Given the description of an element on the screen output the (x, y) to click on. 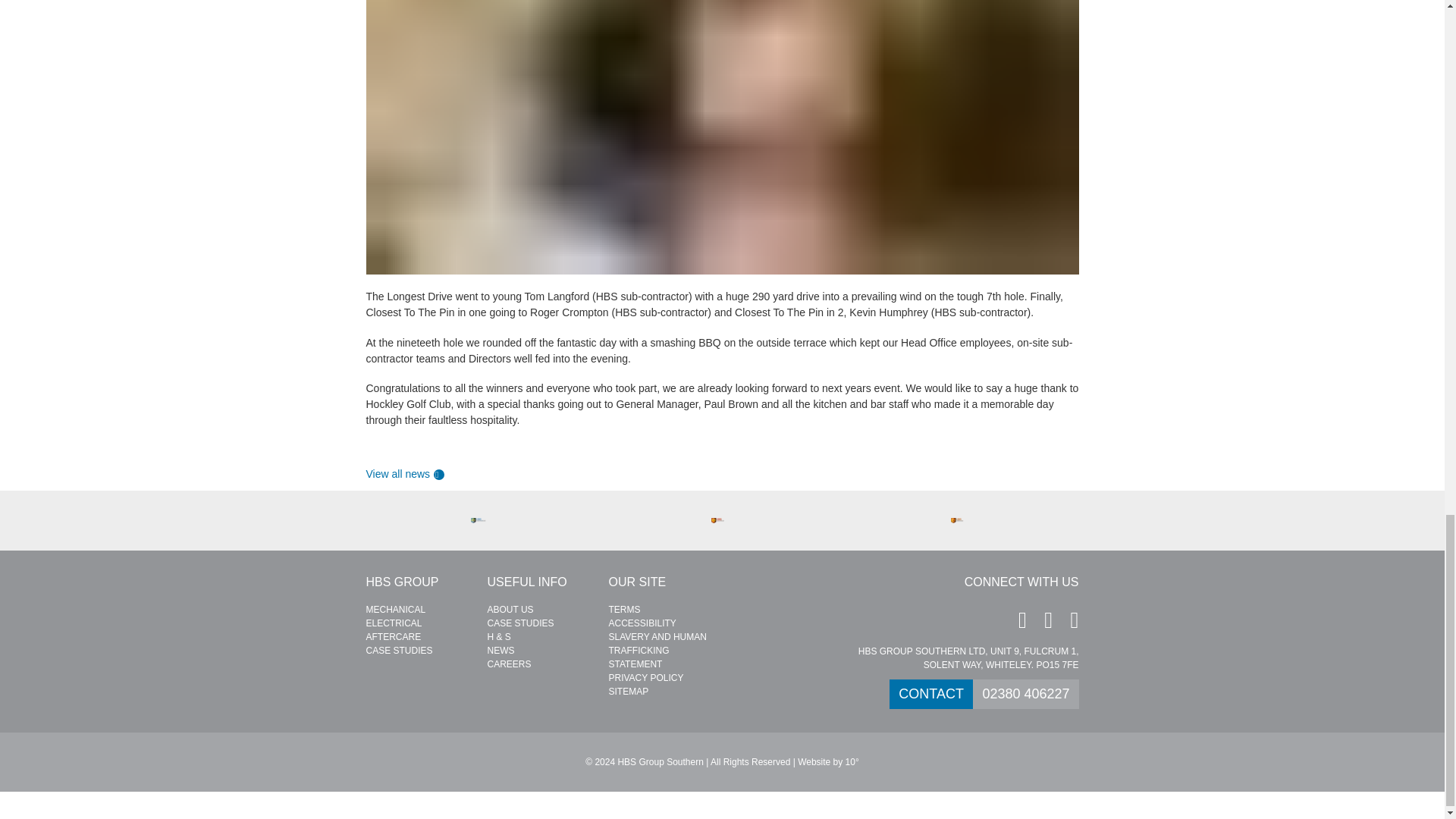
CASE STUDIES (519, 623)
SITEMAP (627, 691)
ACCESSIBILITY (641, 623)
PRIVACY POLICY (645, 677)
View all news (410, 473)
ABOUT US (509, 609)
CAREERS (508, 664)
TERMS (624, 609)
ELECTRICAL (393, 623)
AFTERCARE (392, 636)
MECHANICAL (395, 609)
02380 406227 (1025, 694)
aftercare (392, 636)
NEWS (499, 650)
SLAVERY AND HUMAN TRAFFICKING STATEMENT (657, 650)
